Given the description of an element on the screen output the (x, y) to click on. 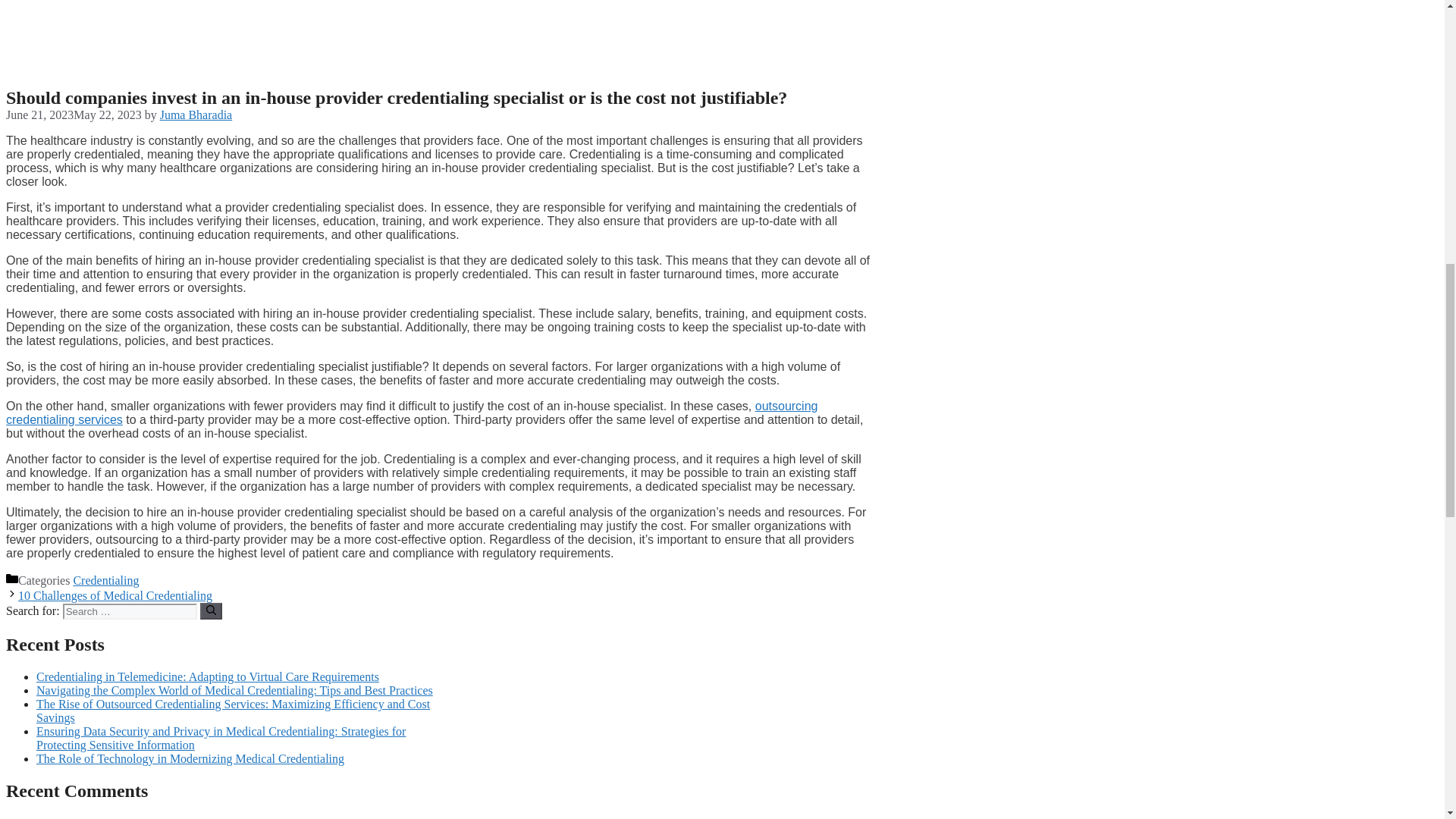
10 Challenges of Medical Credentialing (114, 594)
Juma Bharadia (196, 114)
The Role of Technology in Modernizing Medical Credentialing (189, 758)
outsourcing credentialing services (410, 412)
Search for: (129, 611)
View all posts by Juma Bharadia (196, 114)
